Given the description of an element on the screen output the (x, y) to click on. 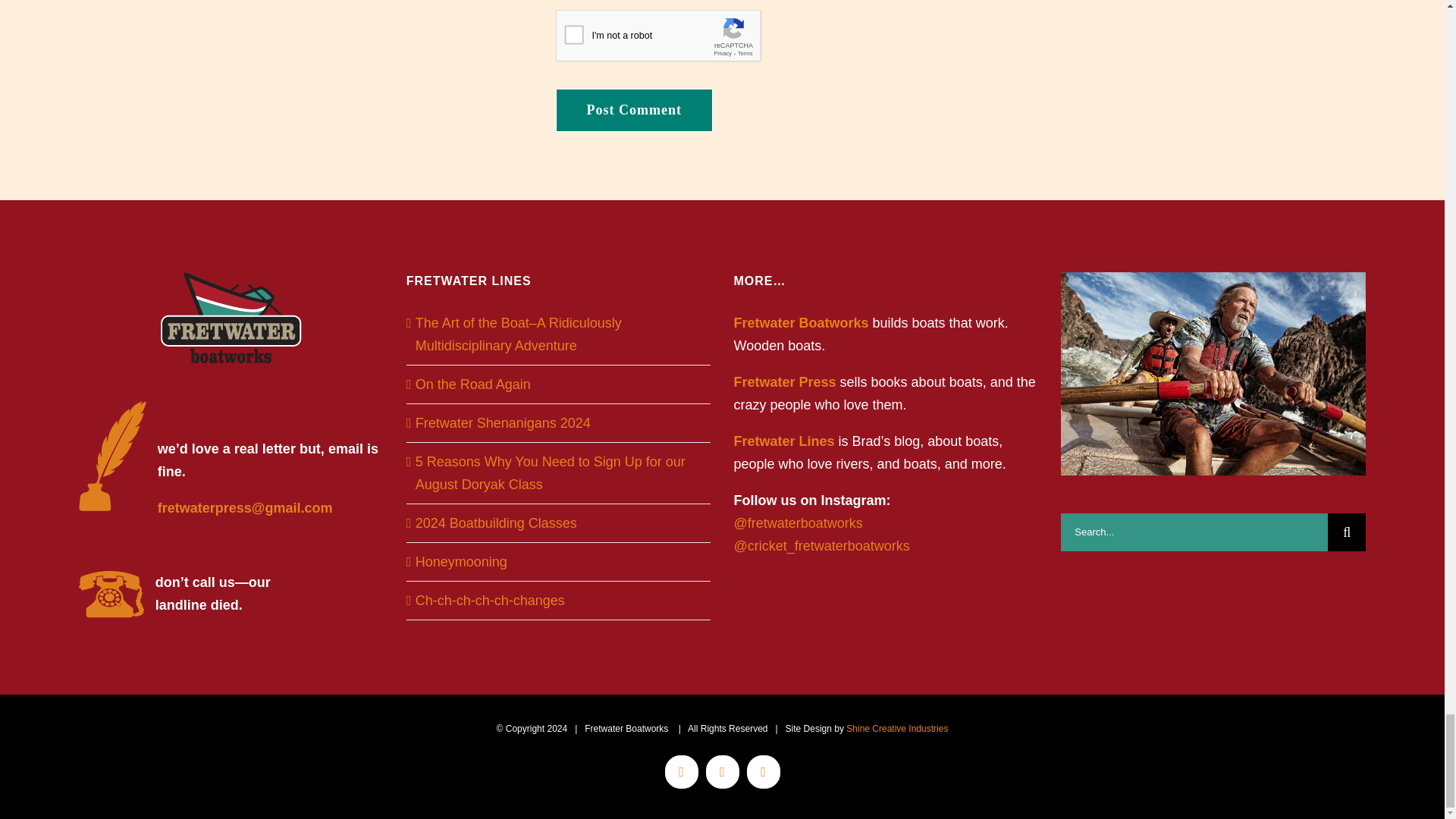
reCAPTCHA (670, 38)
Post Comment (632, 109)
